Given the description of an element on the screen output the (x, y) to click on. 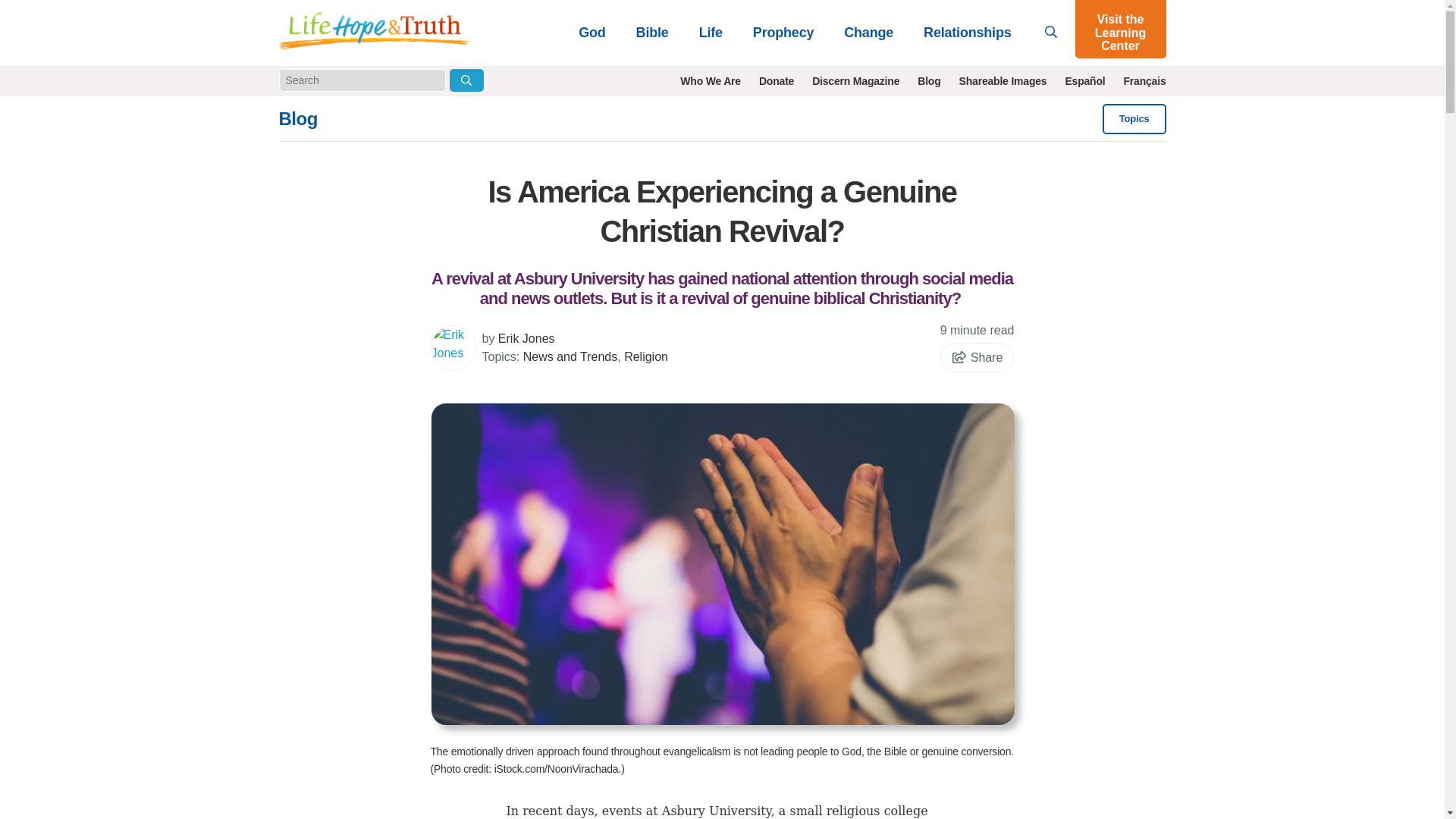
God (591, 32)
Bible (652, 32)
Life (711, 32)
